Given the description of an element on the screen output the (x, y) to click on. 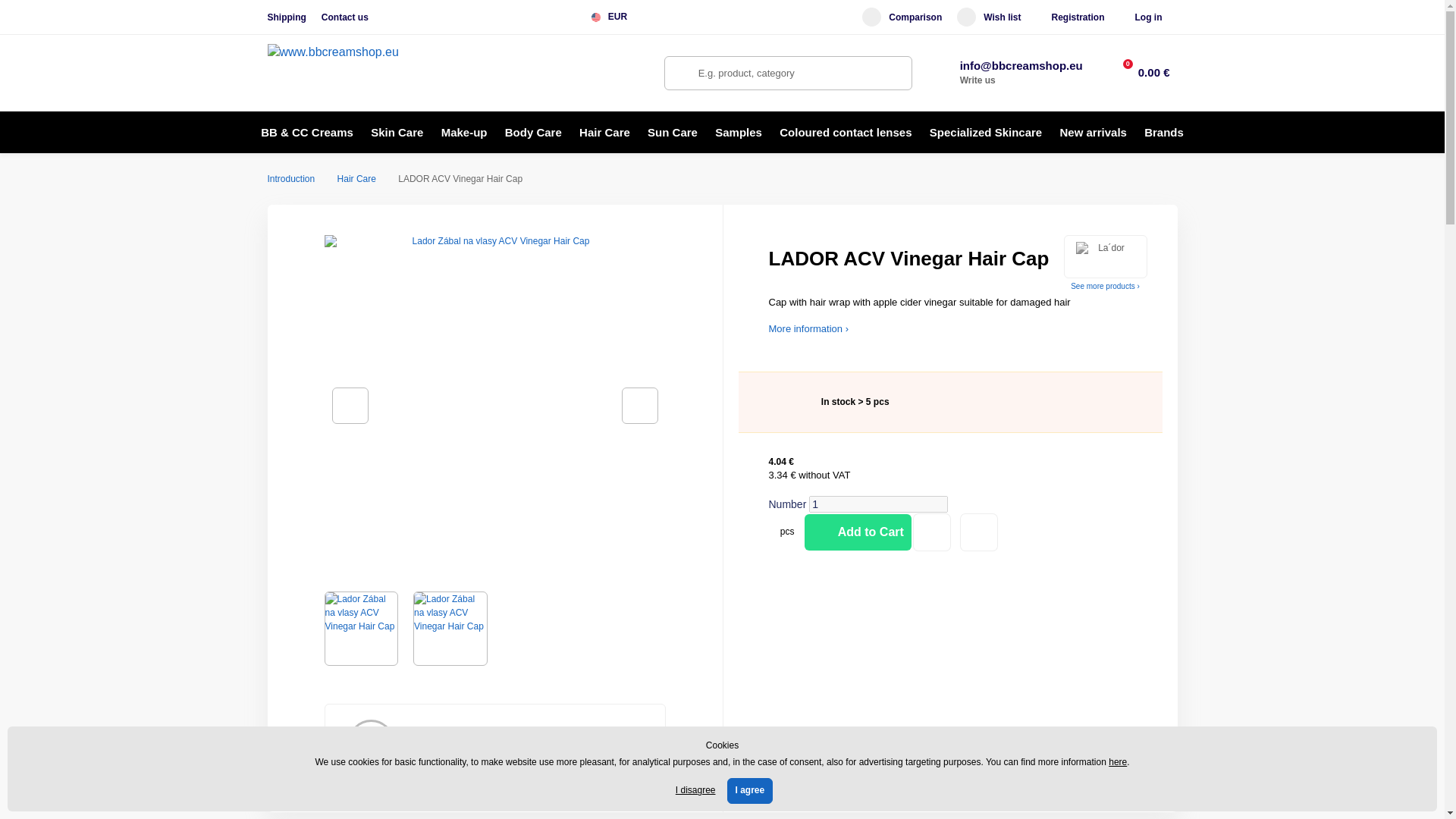
Contact us (344, 17)
Skin Care (397, 132)
Add to Compare (978, 532)
Registration (1077, 16)
EUR (615, 16)
Hair Care (356, 178)
Wish list (988, 16)
1 (878, 504)
Shipping (285, 17)
Log in (1147, 16)
